Given the description of an element on the screen output the (x, y) to click on. 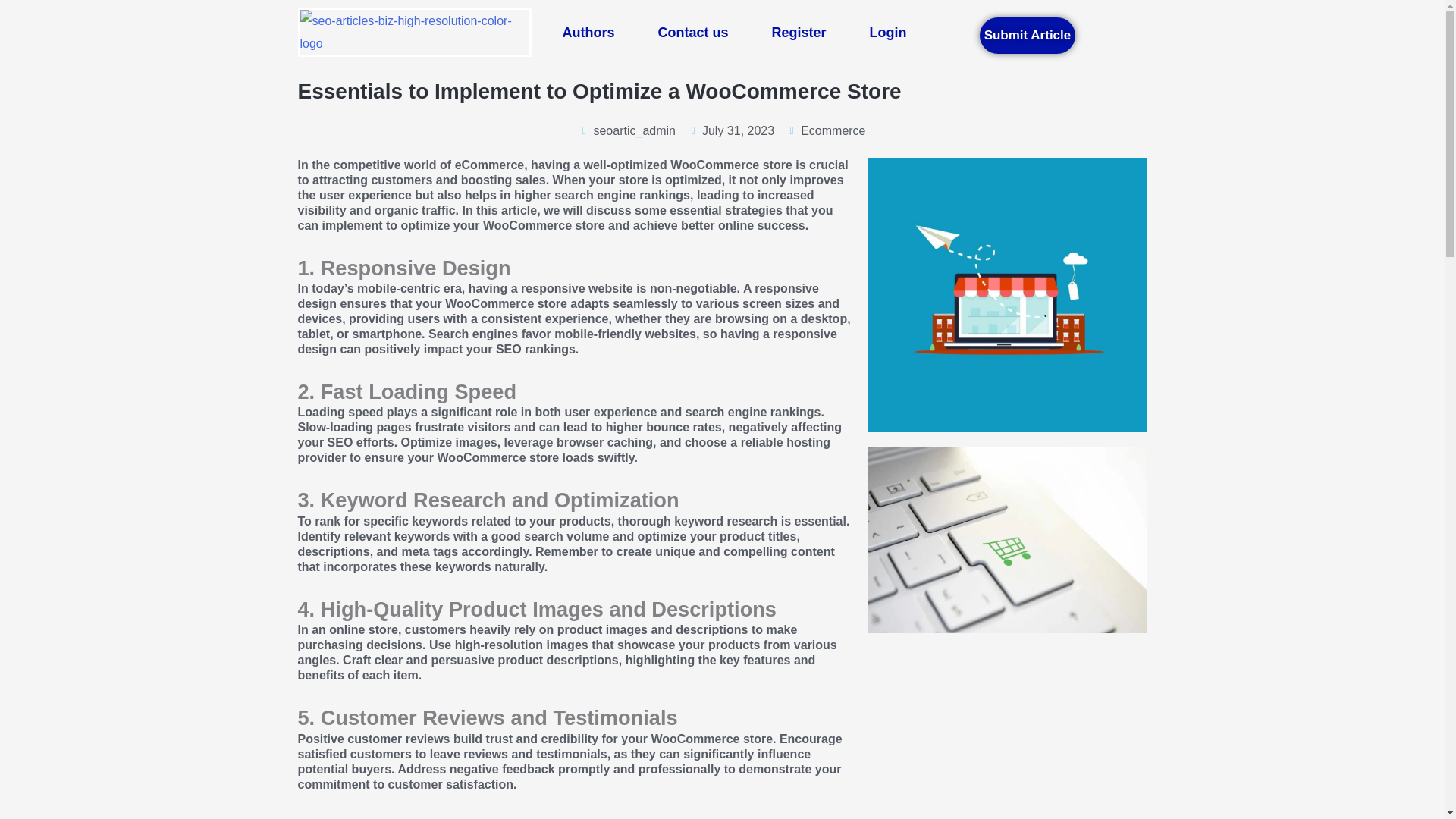
Ecommerce (832, 130)
July 31, 2023 (730, 130)
Register (798, 32)
Authors (587, 32)
Submit Article (1027, 35)
Login (887, 32)
seo-articles-biz-high-resolution-color-logo (414, 31)
Contact us (692, 32)
